Given the description of an element on the screen output the (x, y) to click on. 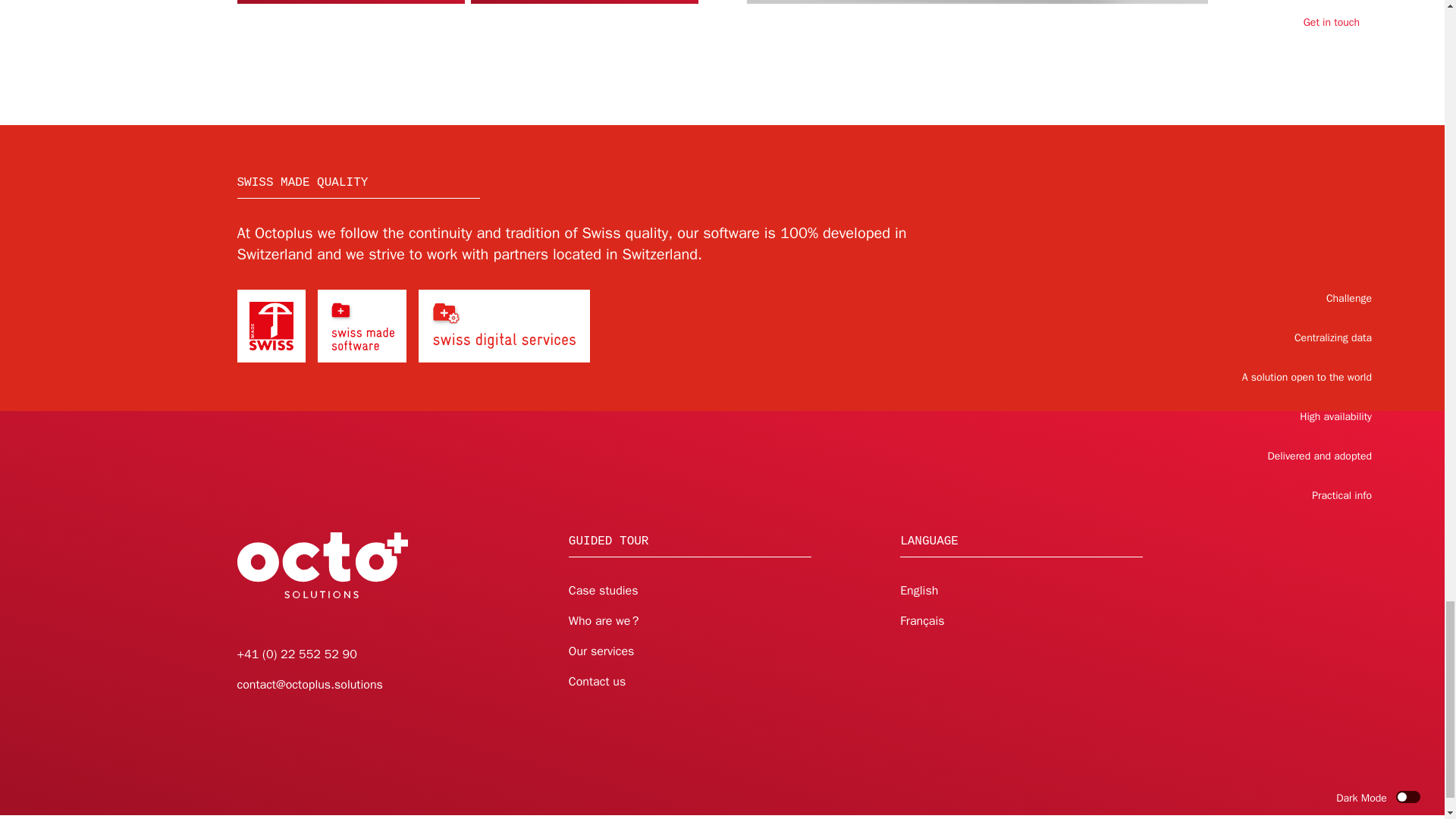
Case studies (604, 590)
English (918, 590)
Contact us (597, 681)
Our services (601, 651)
